Given the description of an element on the screen output the (x, y) to click on. 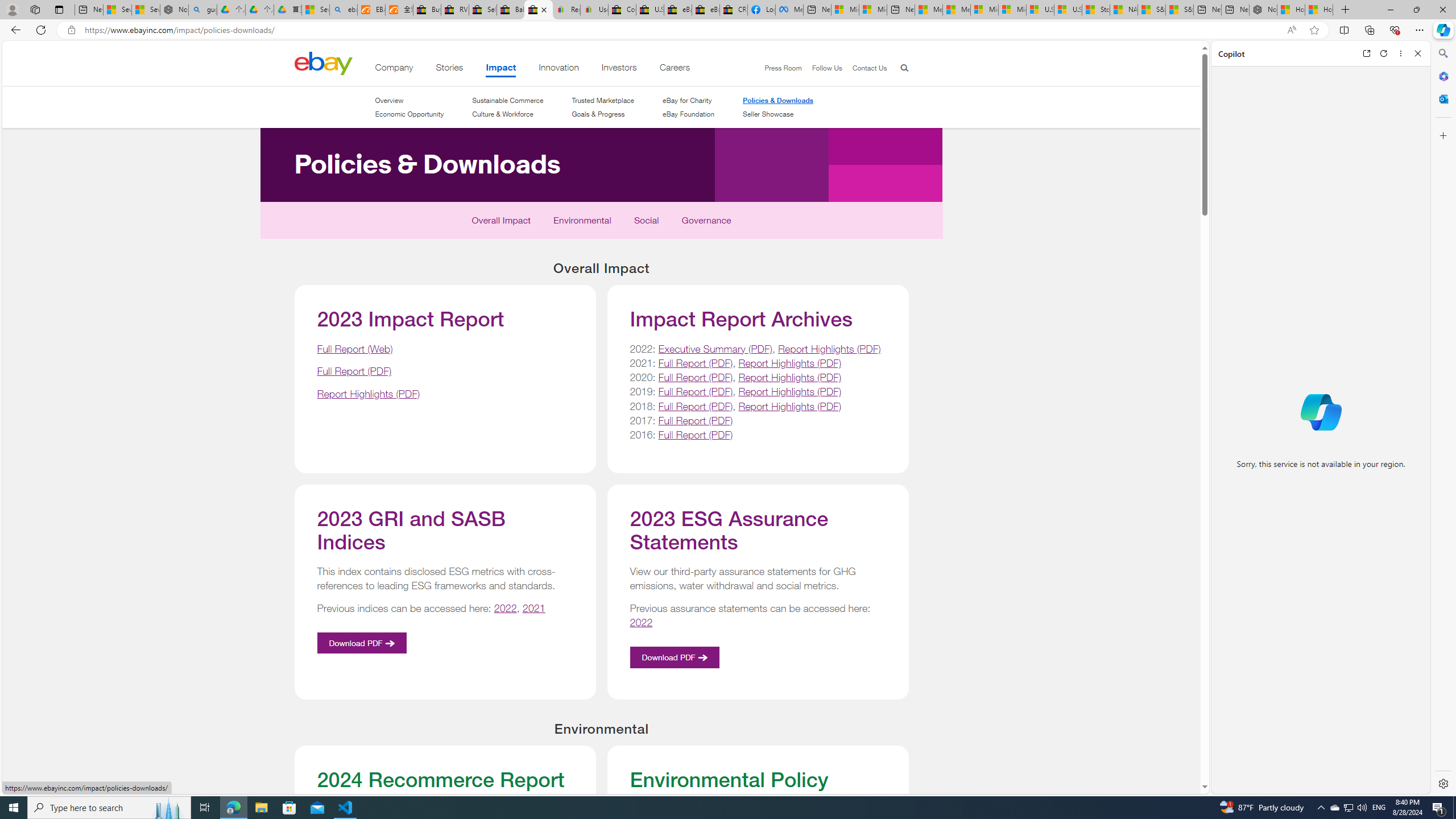
Investors (619, 69)
Policies & Downloads (777, 100)
2021 (534, 608)
Impact . This is the current section. (501, 69)
Meta Store (789, 9)
Goals & Progress (598, 113)
eBay for Charity (686, 99)
Executive Summary (PDF) (714, 348)
Follow Us (821, 68)
